Given the description of an element on the screen output the (x, y) to click on. 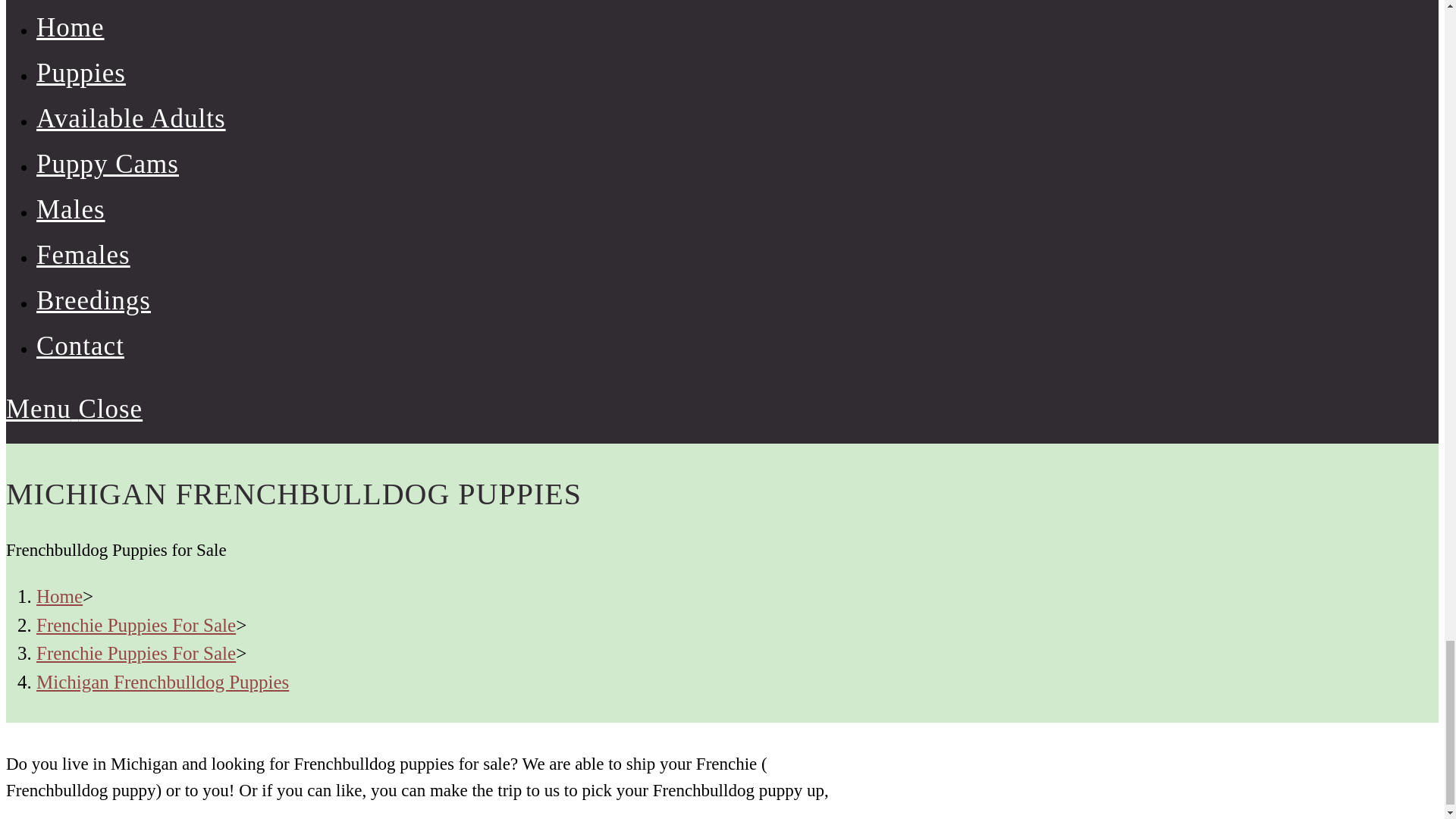
Frenchie Puppies For Sale (135, 652)
Michigan Frenchbulldog Puppies (162, 681)
Males (70, 209)
Contact (79, 346)
Available Adults (130, 118)
Puppy Cams (107, 164)
Puppies (80, 72)
Breedings (93, 300)
Home (70, 27)
Frenchie Puppies For Sale (135, 625)
Home (59, 596)
Females (83, 255)
